Given the description of an element on the screen output the (x, y) to click on. 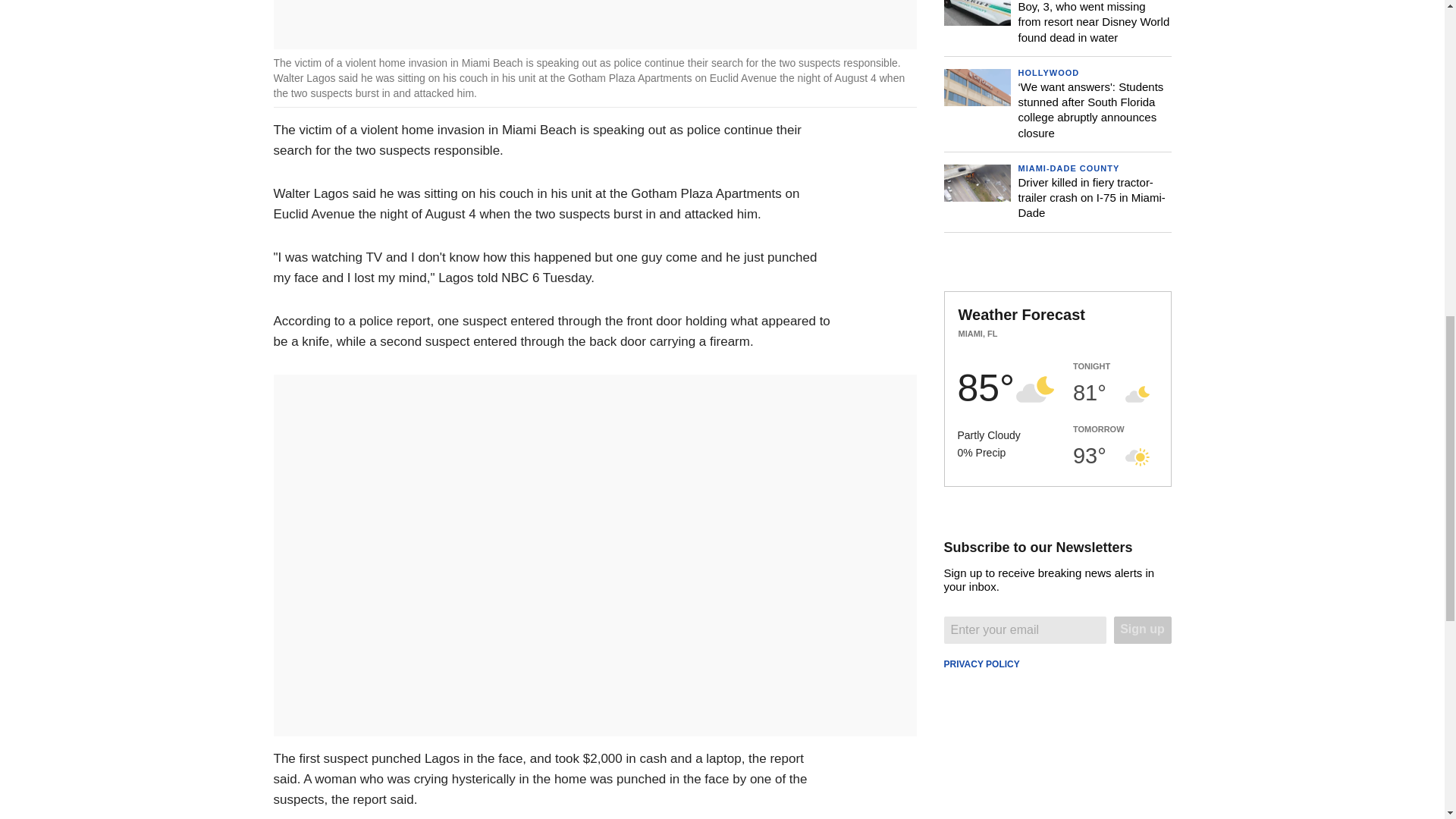
3rd party ad content (1056, 371)
3rd party ad content (1056, 619)
